Given the description of an element on the screen output the (x, y) to click on. 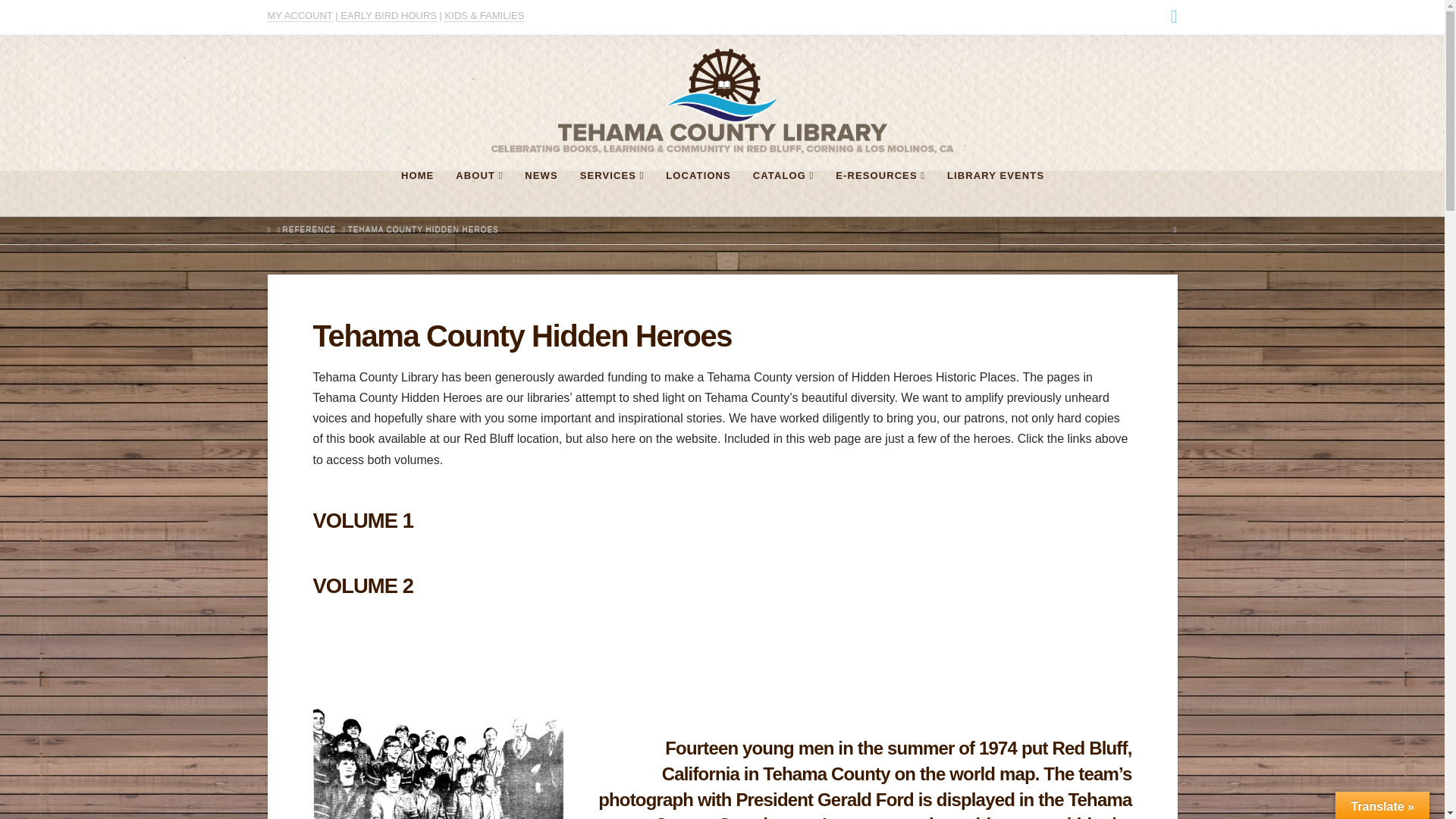
SERVICES (612, 193)
EARLY BIRD HOURS (386, 15)
CATALOG (782, 193)
LOCATIONS (697, 193)
Page 12 (864, 777)
You Are Here (423, 229)
MY ACCOUNT (298, 15)
ABOUT (478, 193)
NEWS (540, 193)
E-RESOURCES (880, 193)
